Given the description of an element on the screen output the (x, y) to click on. 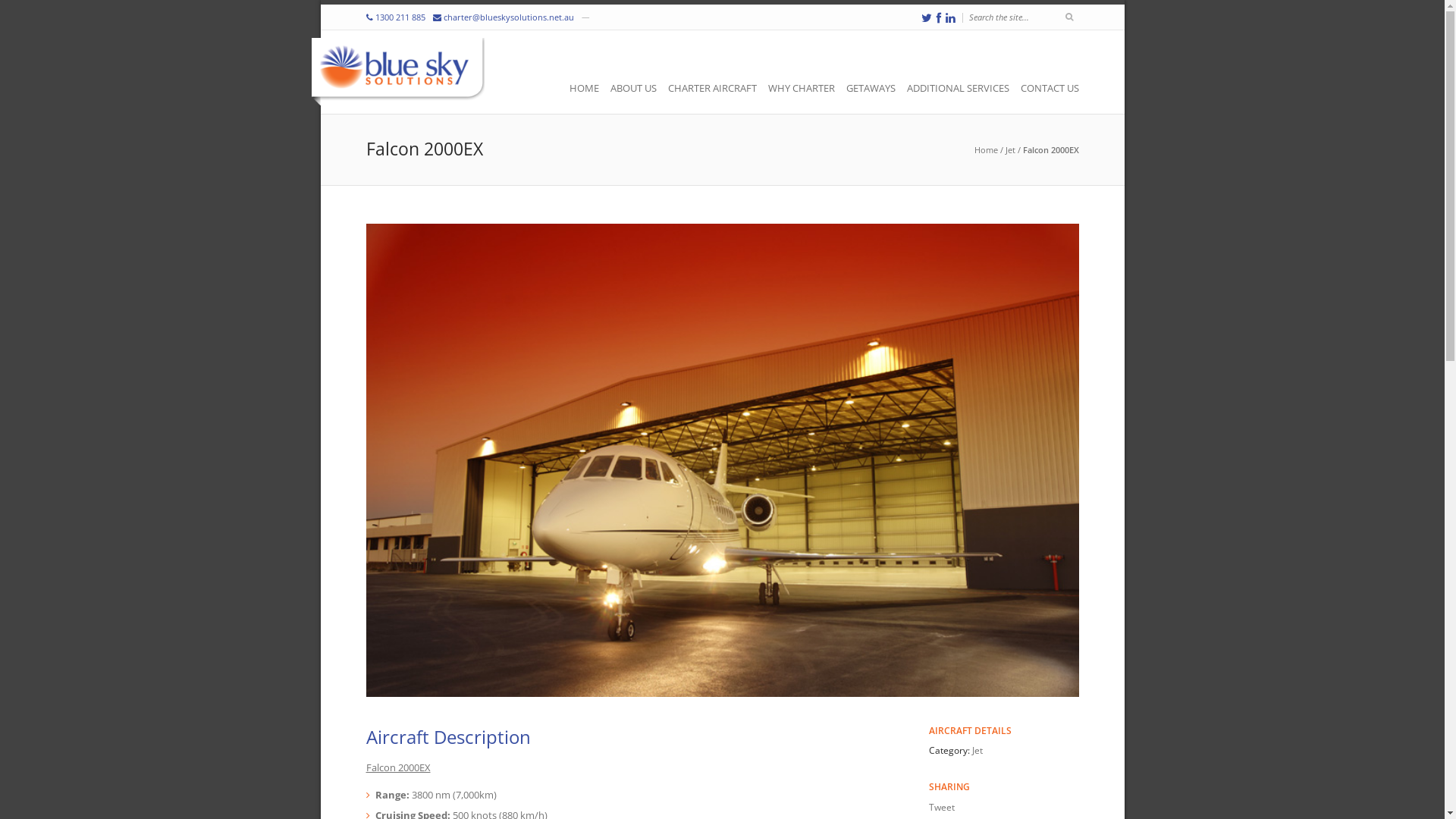
ABOUT US Element type: text (636, 87)
Jet Element type: text (1010, 149)
Facebook Element type: hover (937, 17)
LinkedIn Element type: hover (949, 17)
Blue Sky Solutions | Corporate Aircraft Charter Element type: hover (396, 71)
charter@blueskysolutions.net.au Element type: text (507, 16)
GETAWAYS Element type: text (874, 87)
CHARTER AIRCRAFT Element type: text (715, 87)
ADDITIONAL SERVICES Element type: text (961, 87)
Tweet Element type: text (941, 806)
WHY CHARTER Element type: text (804, 87)
CONTACT US Element type: text (1049, 87)
Twitter Element type: hover (925, 17)
HOME Element type: text (586, 87)
Home Element type: text (985, 149)
